Given the description of an element on the screen output the (x, y) to click on. 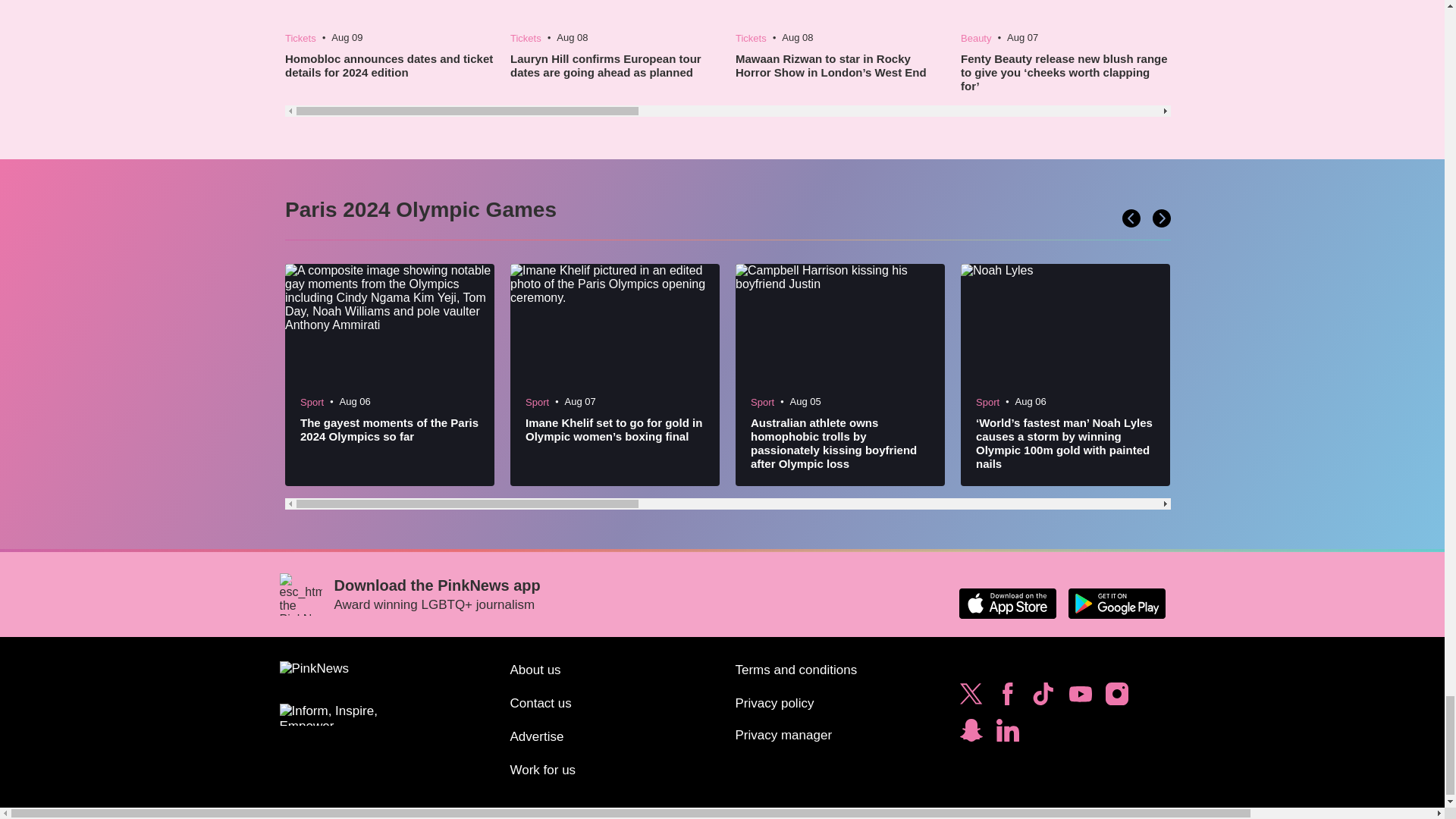
Follow PinkNews on Instagram (1116, 697)
Follow PinkNews on LinkedIn (1007, 733)
Follow PinkNews on Twitter (970, 697)
Download the PinkNews app on the Apple App Store (1006, 603)
Download the PinkNews app on Google Play (1115, 603)
Subscribe to PinkNews on YouTube (1079, 697)
Follow PinkNews on TikTok (1042, 697)
Subscribe to PinkNews on Snapchat (970, 733)
